Given the description of an element on the screen output the (x, y) to click on. 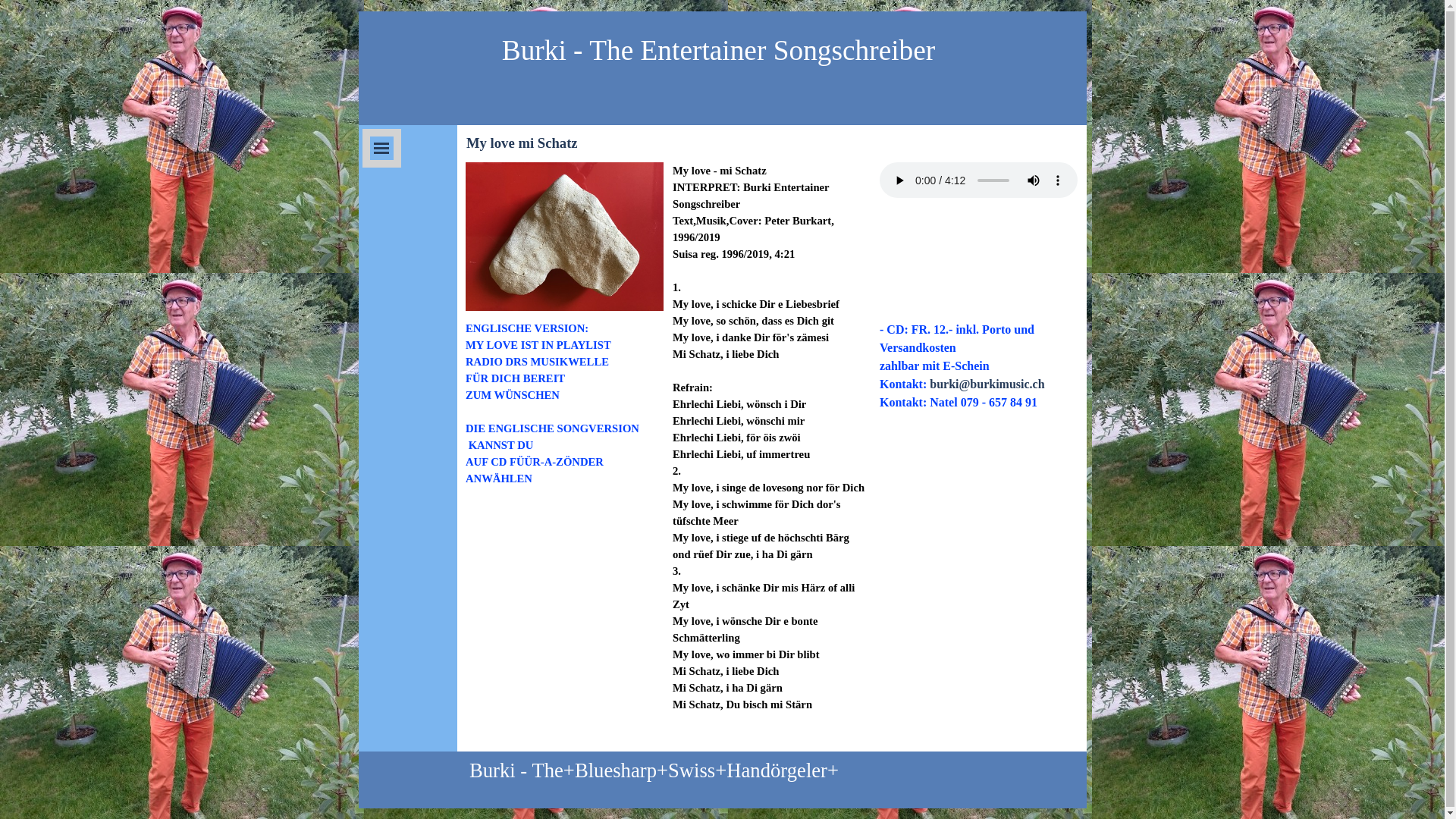
burki@burkimusic.ch Element type: text (986, 383)
